Given the description of an element on the screen output the (x, y) to click on. 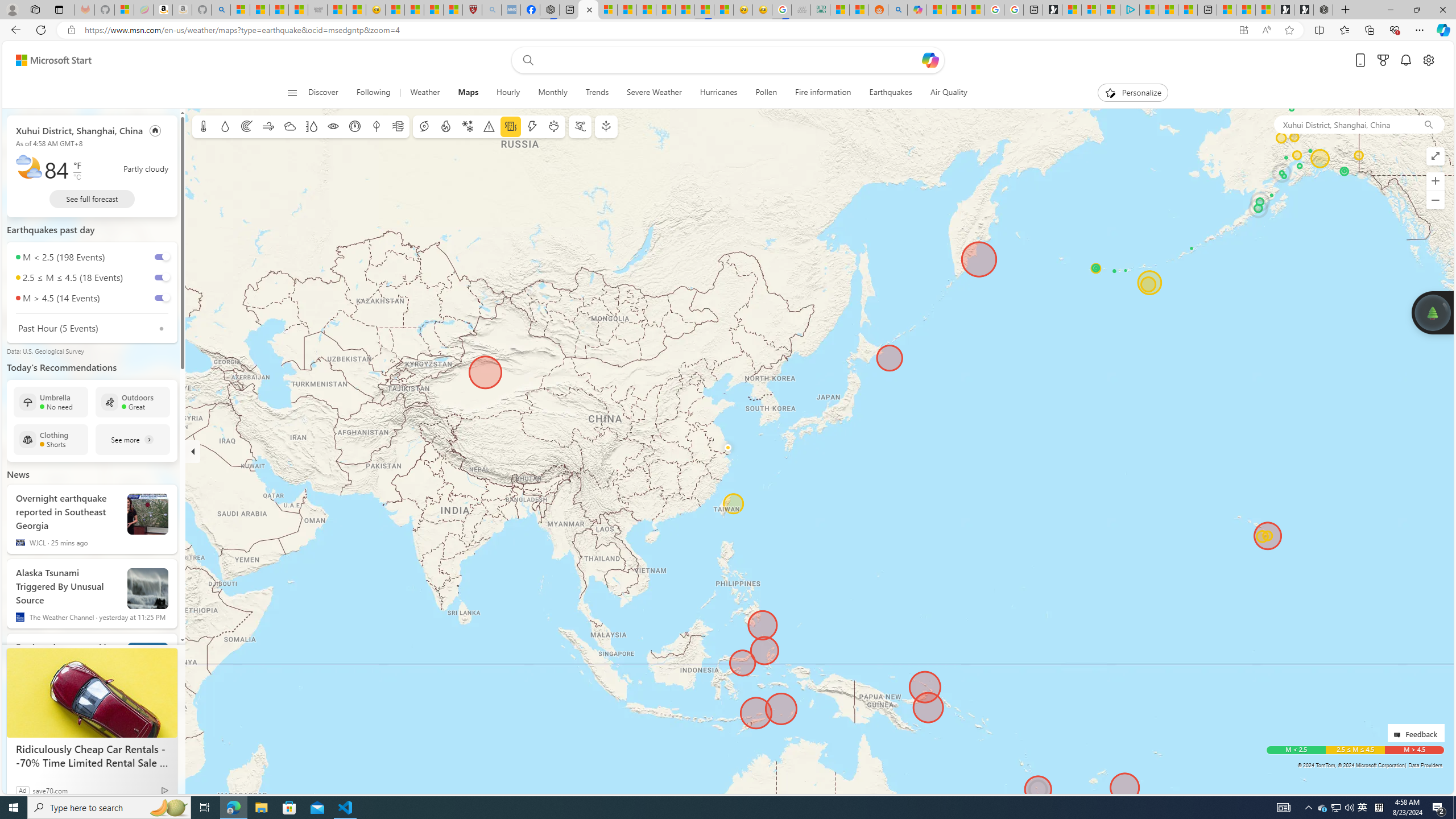
Minimize (1390, 9)
Alaska Tsunami Triggered By Unusual Source (148, 588)
Hide (192, 450)
Ski conditions (579, 126)
Clouds (289, 126)
Browser essentials (1394, 29)
Class: feedback_link_icon-DS-EntryPoint1-1 (1399, 734)
Following (373, 92)
Personal Profile (12, 9)
Close tab (589, 9)
Maps (467, 92)
Class: button-glyph (292, 92)
